Given the description of an element on the screen output the (x, y) to click on. 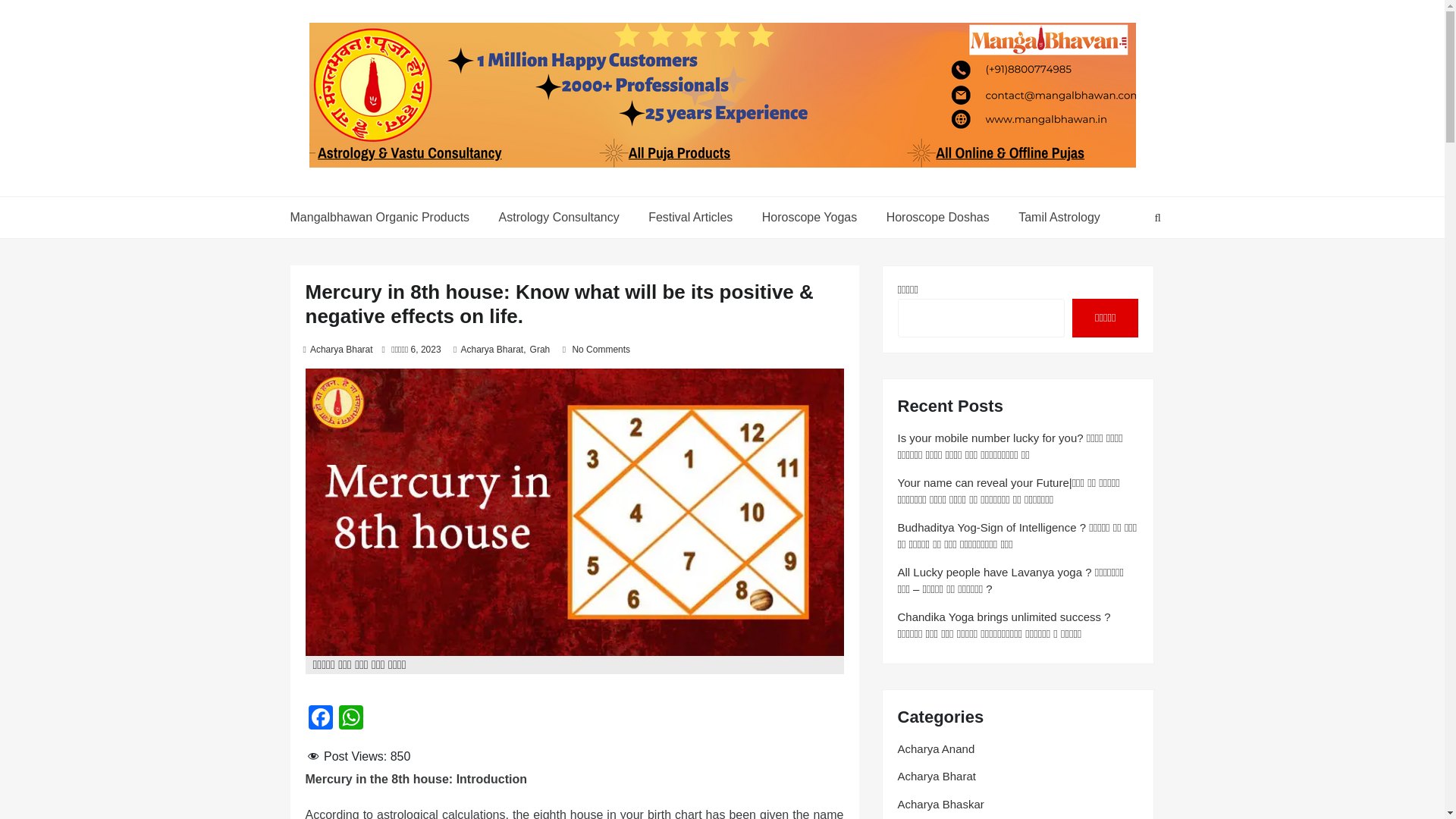
WhatsApp (349, 719)
Festival Articles (689, 217)
Acharya Bharat (341, 348)
Tamil Astrology (1057, 217)
No Comments (601, 348)
Astrology Consultancy (558, 217)
Mangalbhawan Organic Products (385, 217)
Facebook (319, 719)
Facebook (319, 719)
Grah (539, 348)
